Given the description of an element on the screen output the (x, y) to click on. 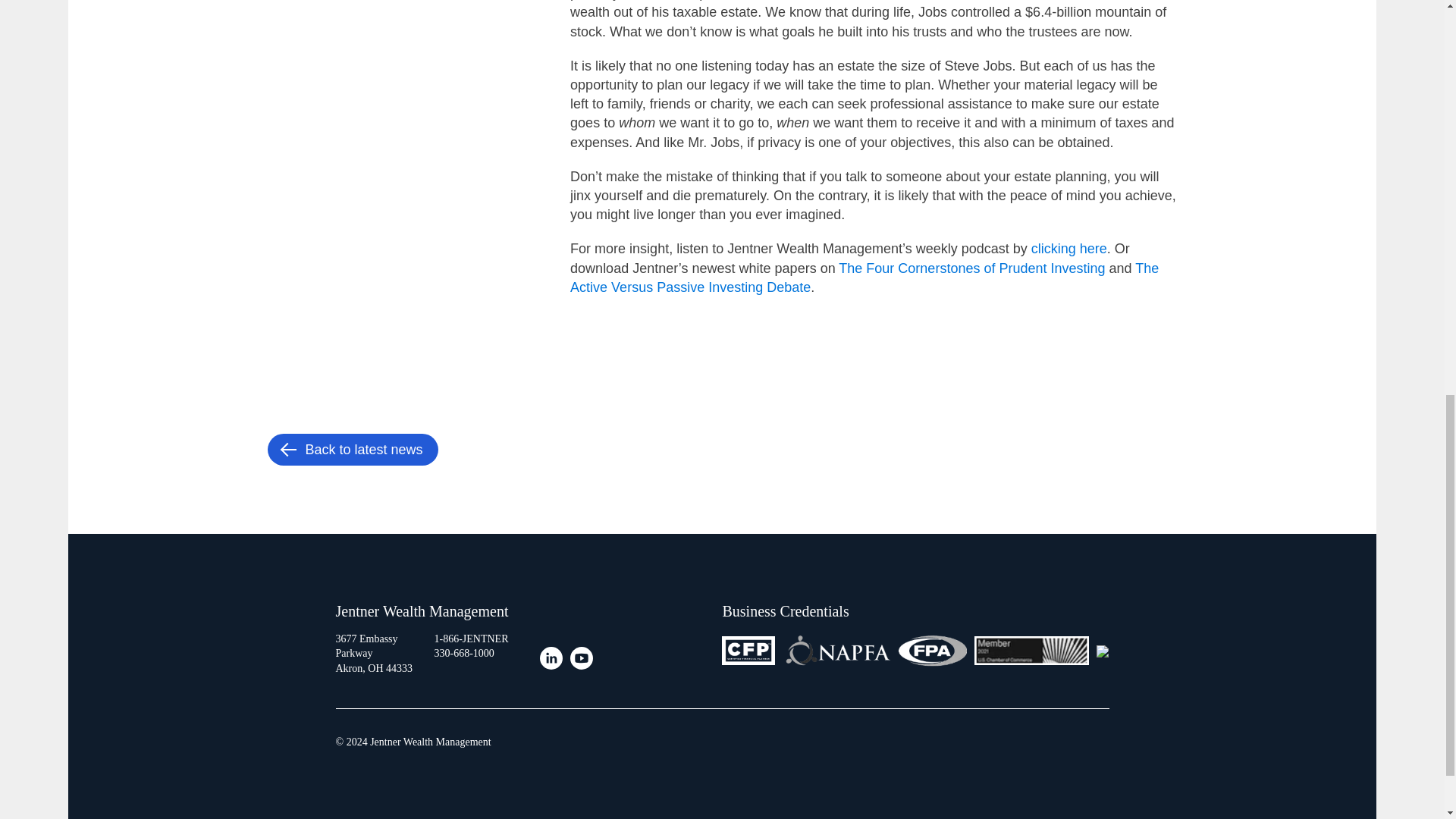
1-866-JENTNER (470, 639)
The Four Cornerstones of Prudent Investing (971, 267)
The Active Versus Passive Investing Debate (864, 277)
clicking here (1068, 248)
Back to latest news (352, 450)
The Four Cornerstones of Prudent Investing (971, 267)
330-668-1000 (463, 653)
